Given the description of an element on the screen output the (x, y) to click on. 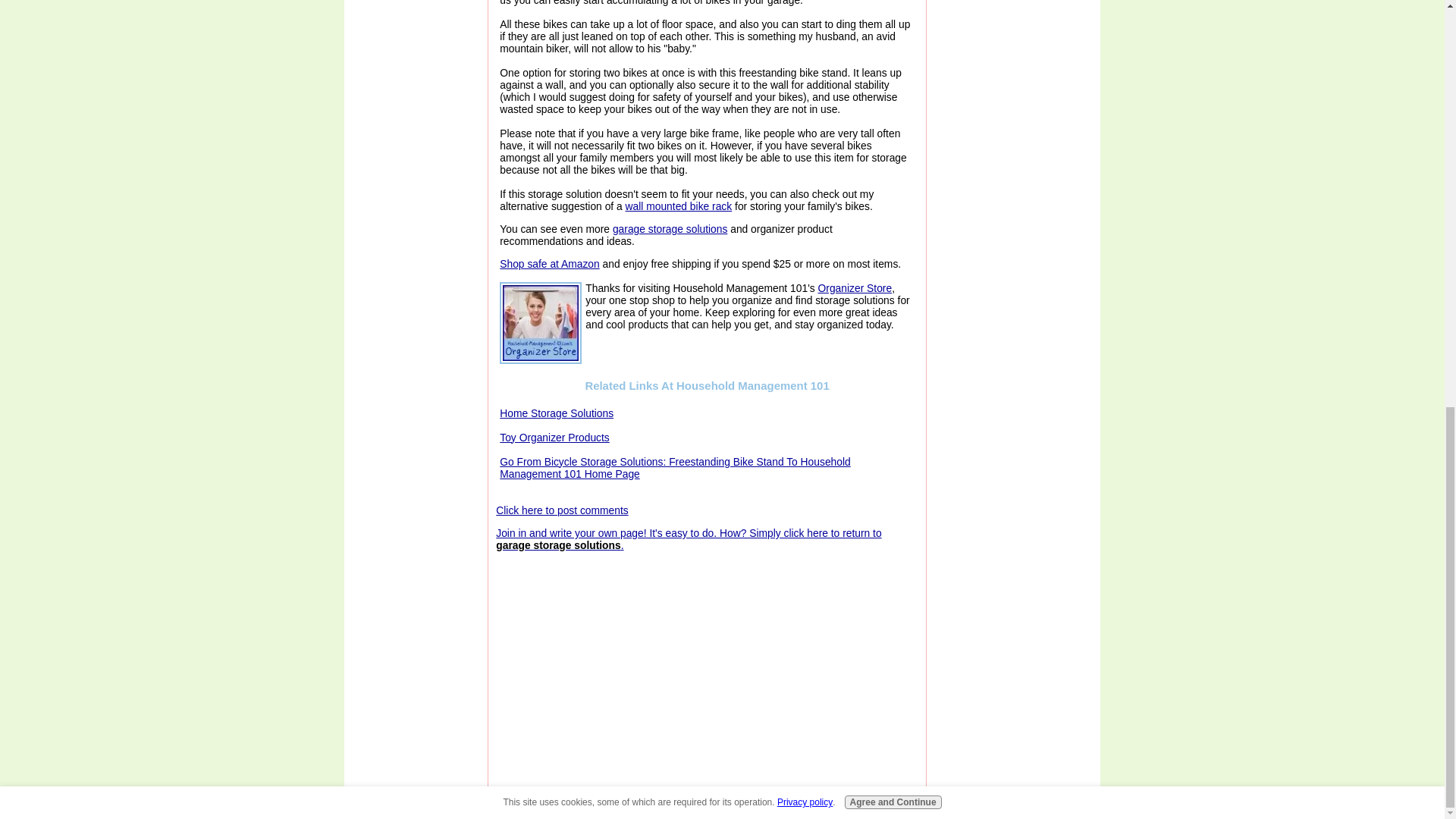
Click here to post comments (561, 510)
wall mounted bike rack (679, 205)
garage storage solutions (669, 228)
organizer store (540, 323)
Organizer Store (855, 287)
Shop safe at Amazon (548, 263)
Home Storage Solutions (555, 413)
Toy Organizer Products (554, 437)
